Given the description of an element on the screen output the (x, y) to click on. 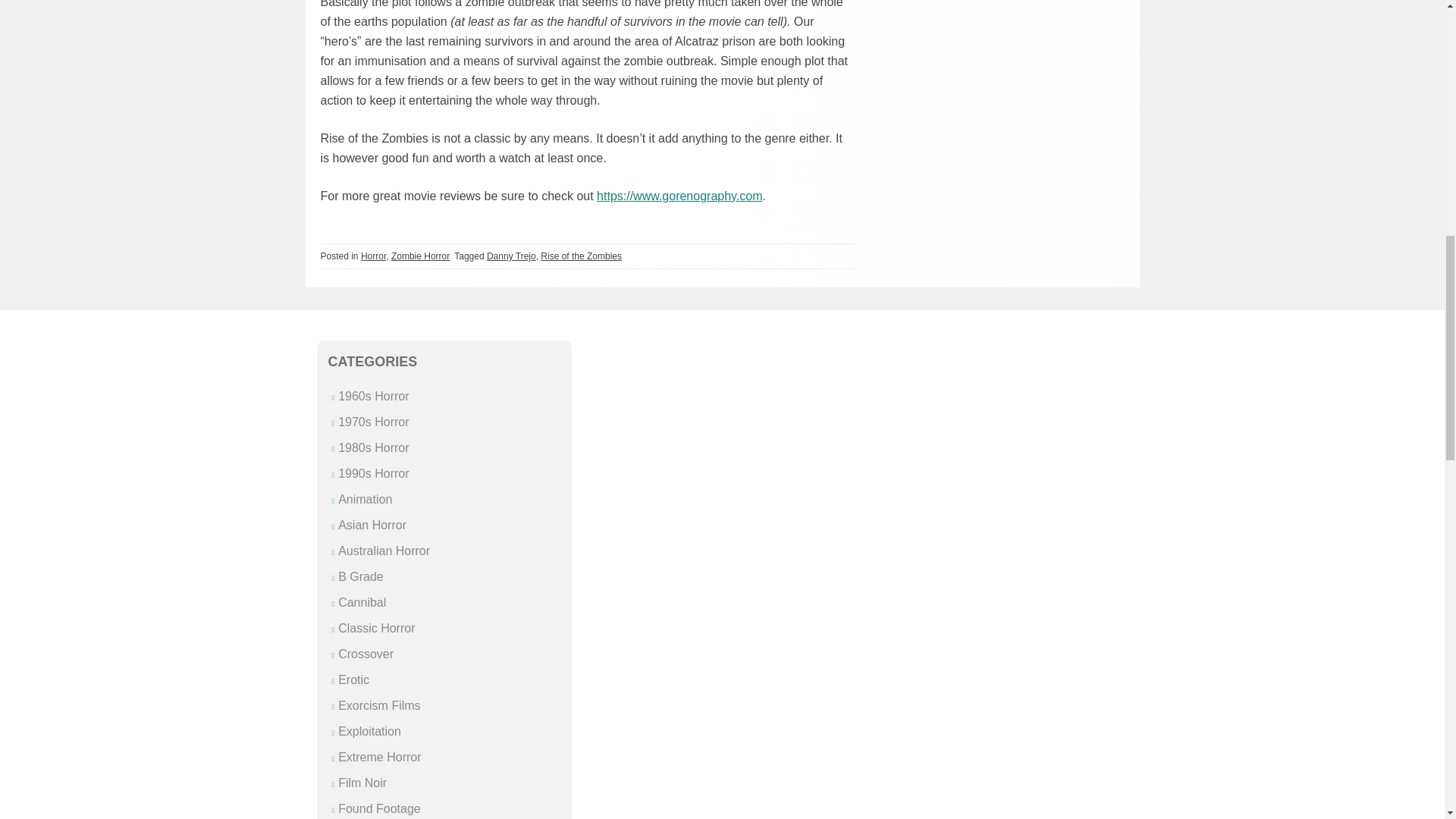
Danny Trejo (510, 255)
Rise of the Zombies (580, 255)
Exploitation (369, 730)
Zombie Horror (420, 255)
1990s Horror (373, 472)
1960s Horror (373, 395)
B Grade (360, 576)
Classic Horror (375, 627)
Horror (373, 255)
1970s Horror (373, 421)
